Given the description of an element on the screen output the (x, y) to click on. 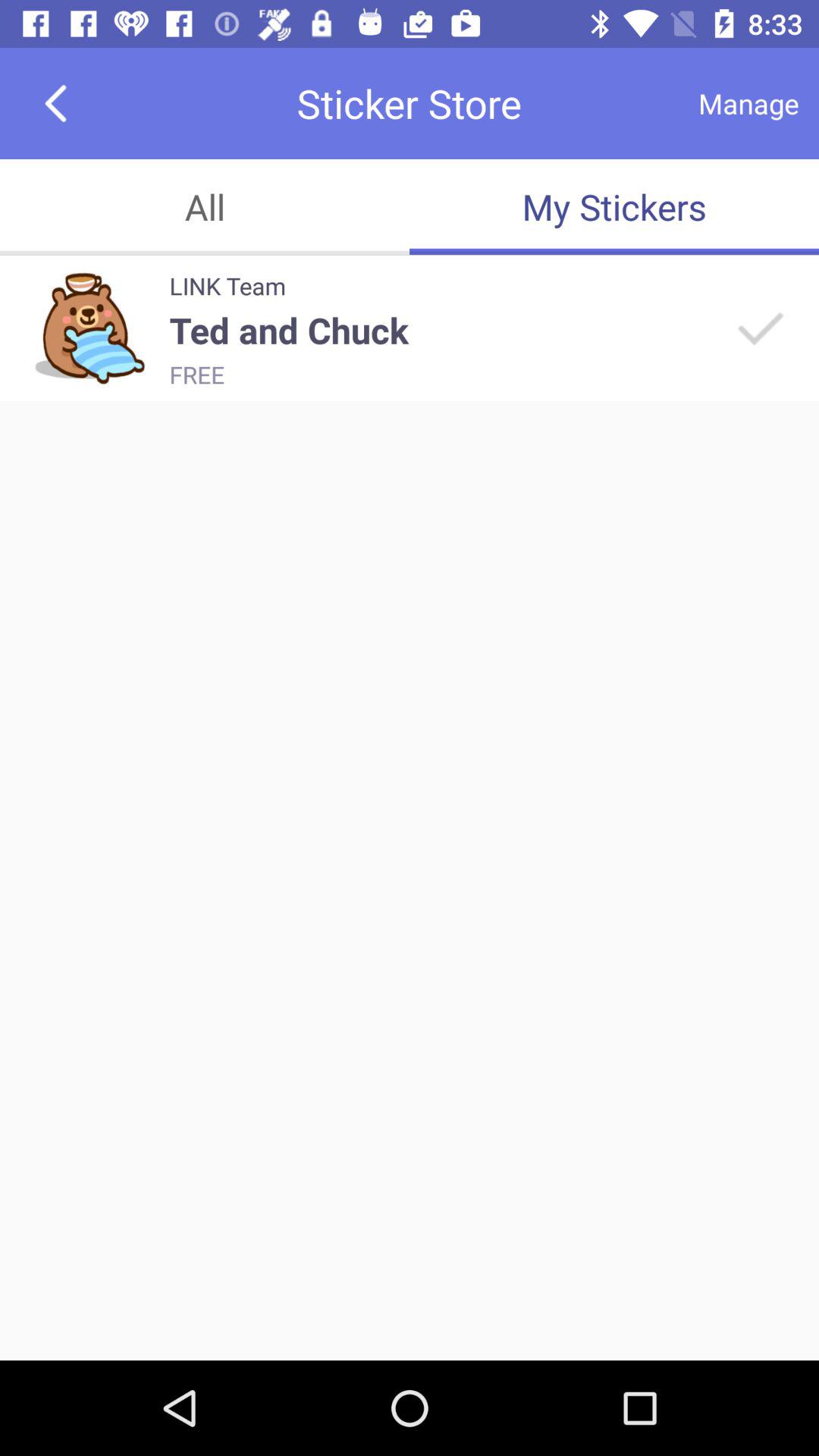
click the app below manage icon (614, 206)
